Given the description of an element on the screen output the (x, y) to click on. 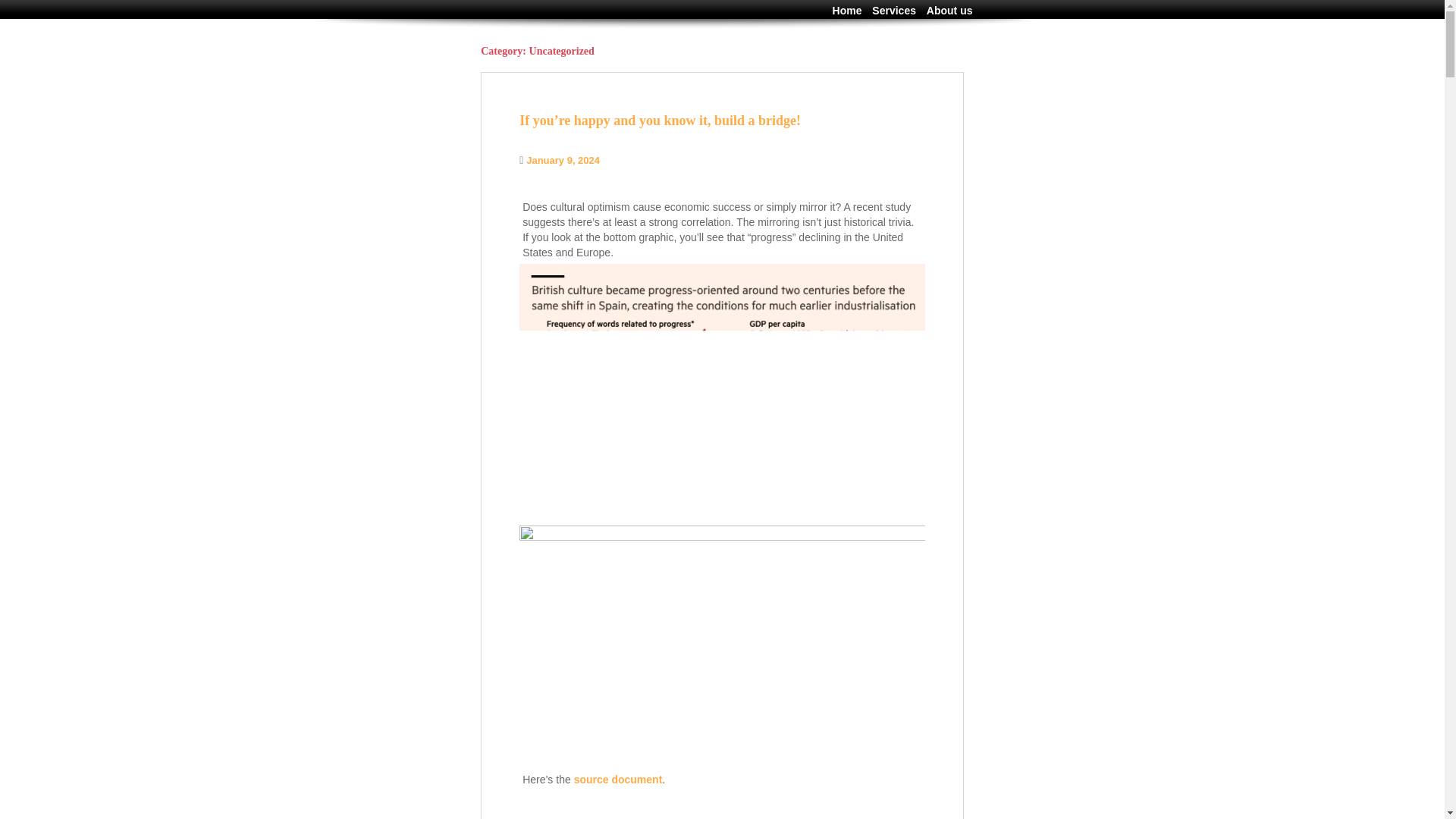
January 9, 2024 (562, 160)
source document (617, 779)
About us (945, 10)
Home (843, 10)
Services (889, 10)
